Given the description of an element on the screen output the (x, y) to click on. 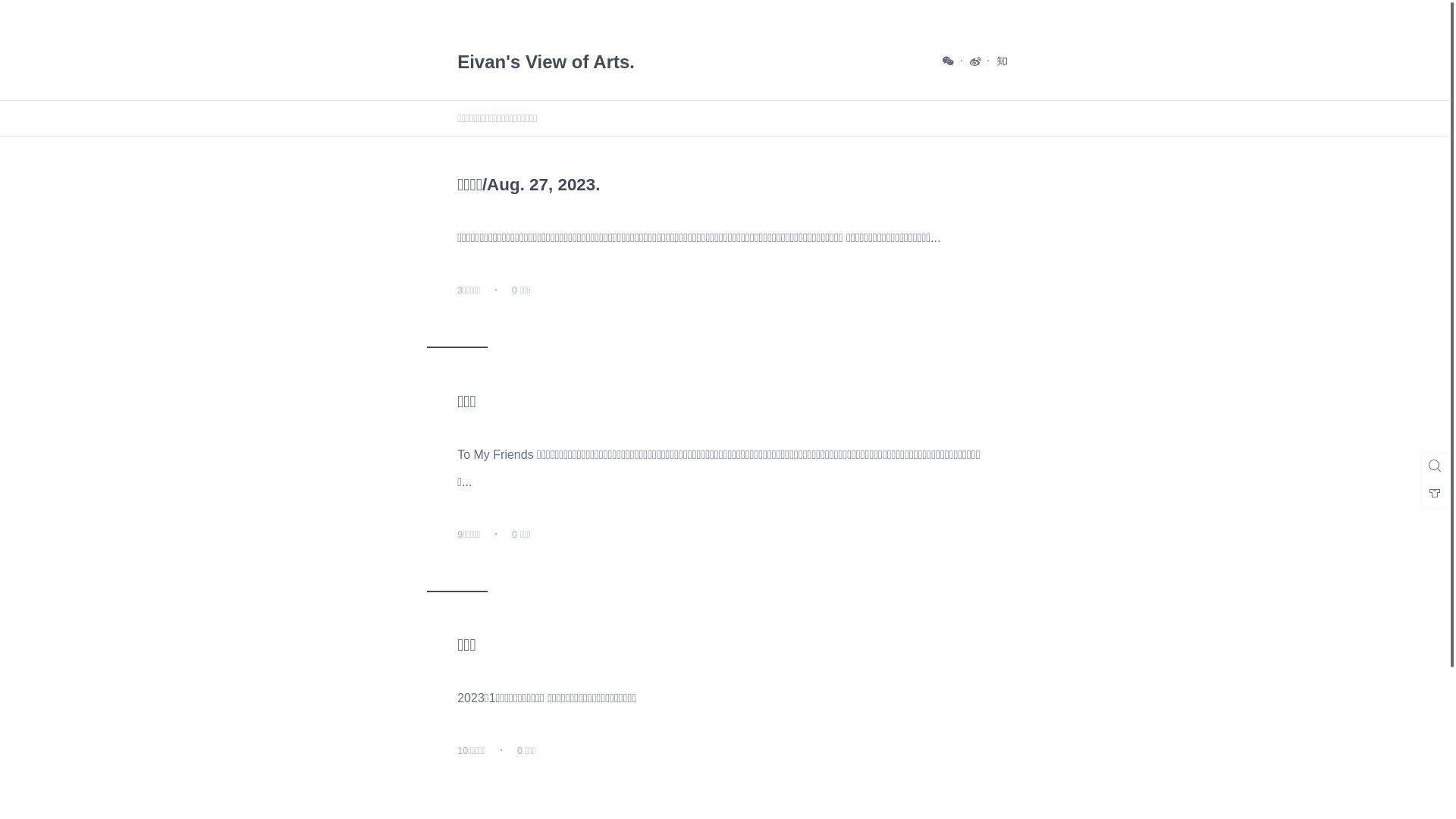
Weibo Element type: text (975, 60)
Wechat Element type: text (948, 60)
Zhihu Element type: text (1002, 60)
